Given the description of an element on the screen output the (x, y) to click on. 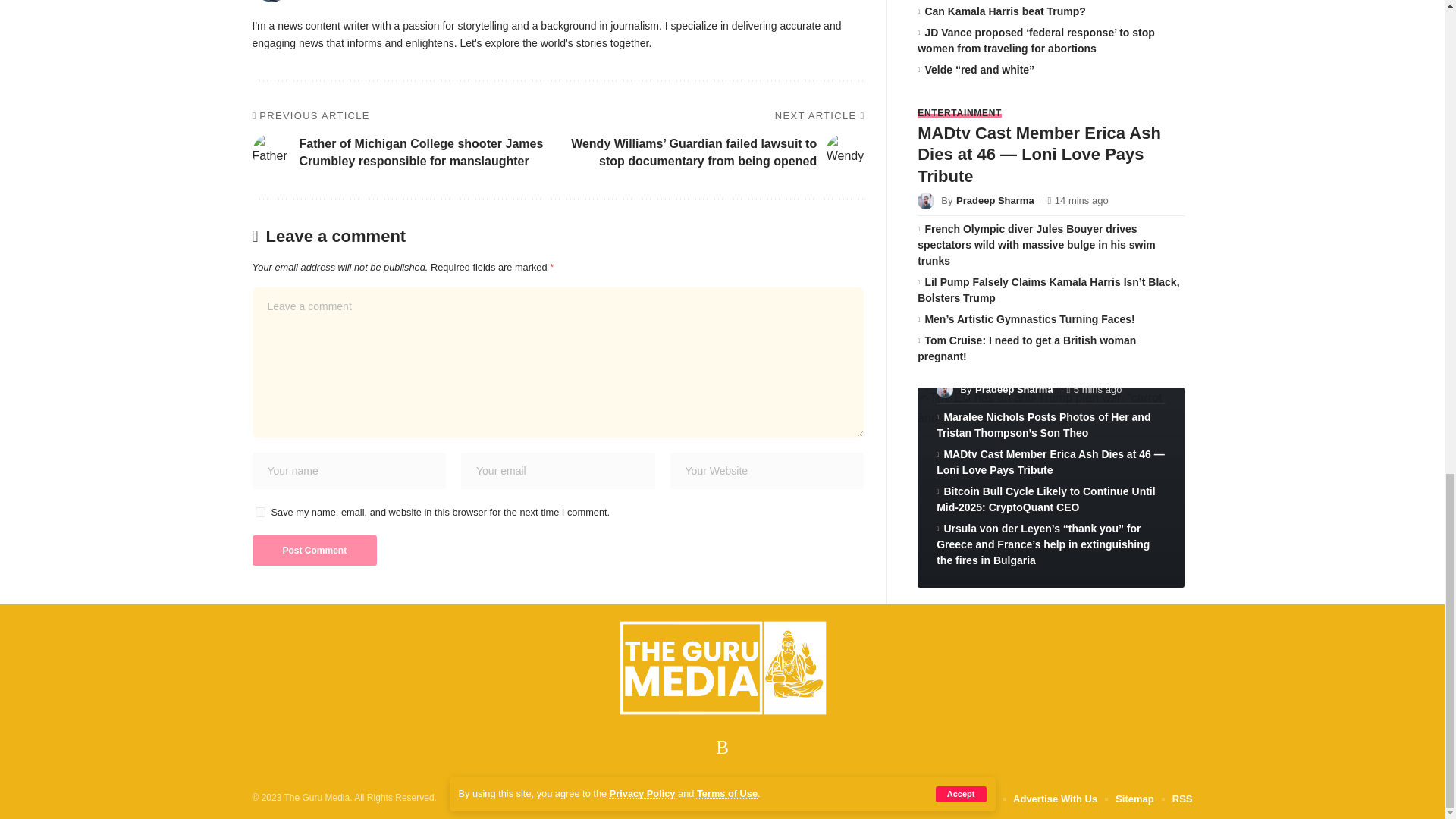
yes (259, 511)
Post Comment (314, 550)
